Given the description of an element on the screen output the (x, y) to click on. 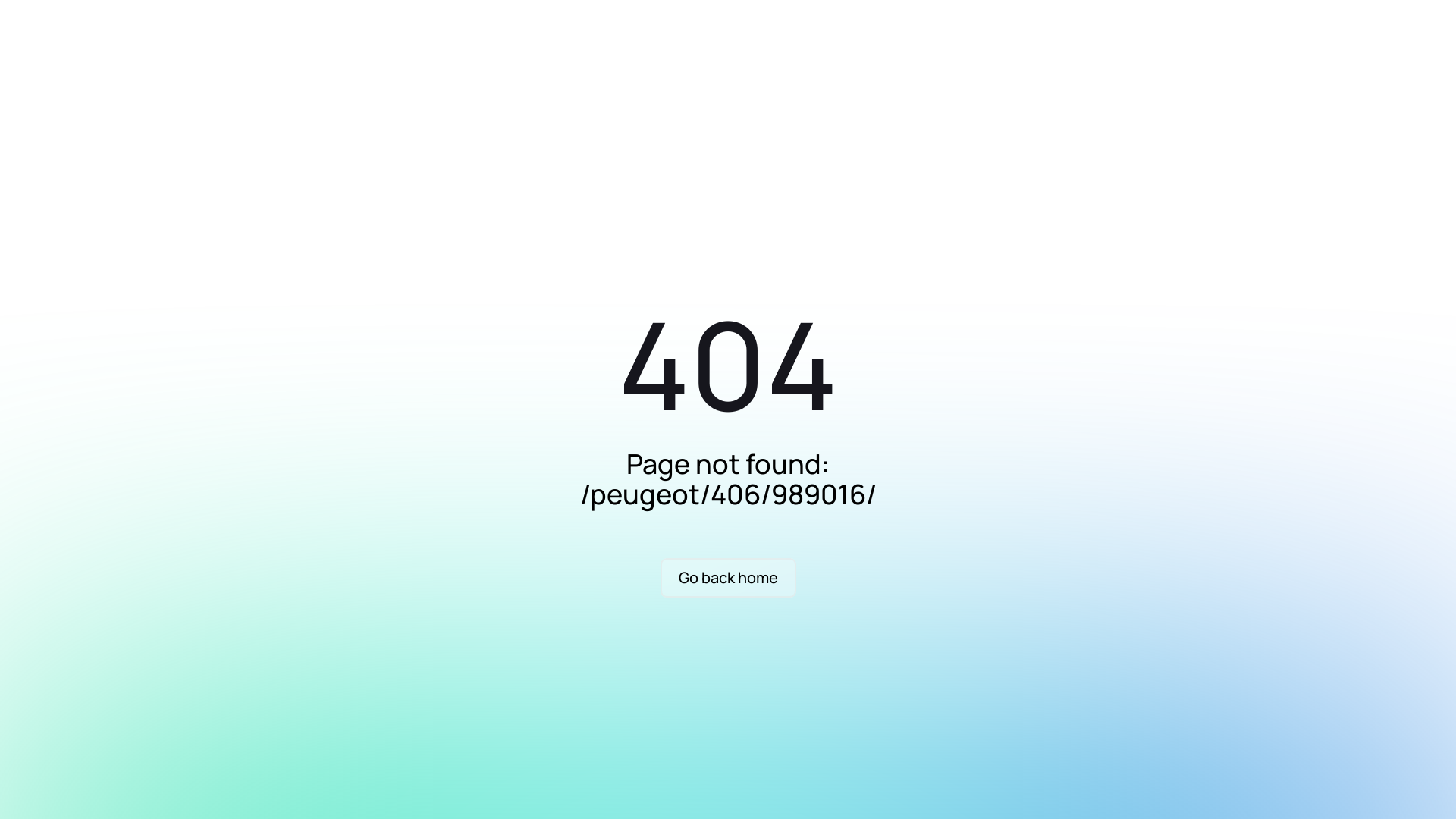
Go back home Element type: text (727, 577)
